Given the description of an element on the screen output the (x, y) to click on. 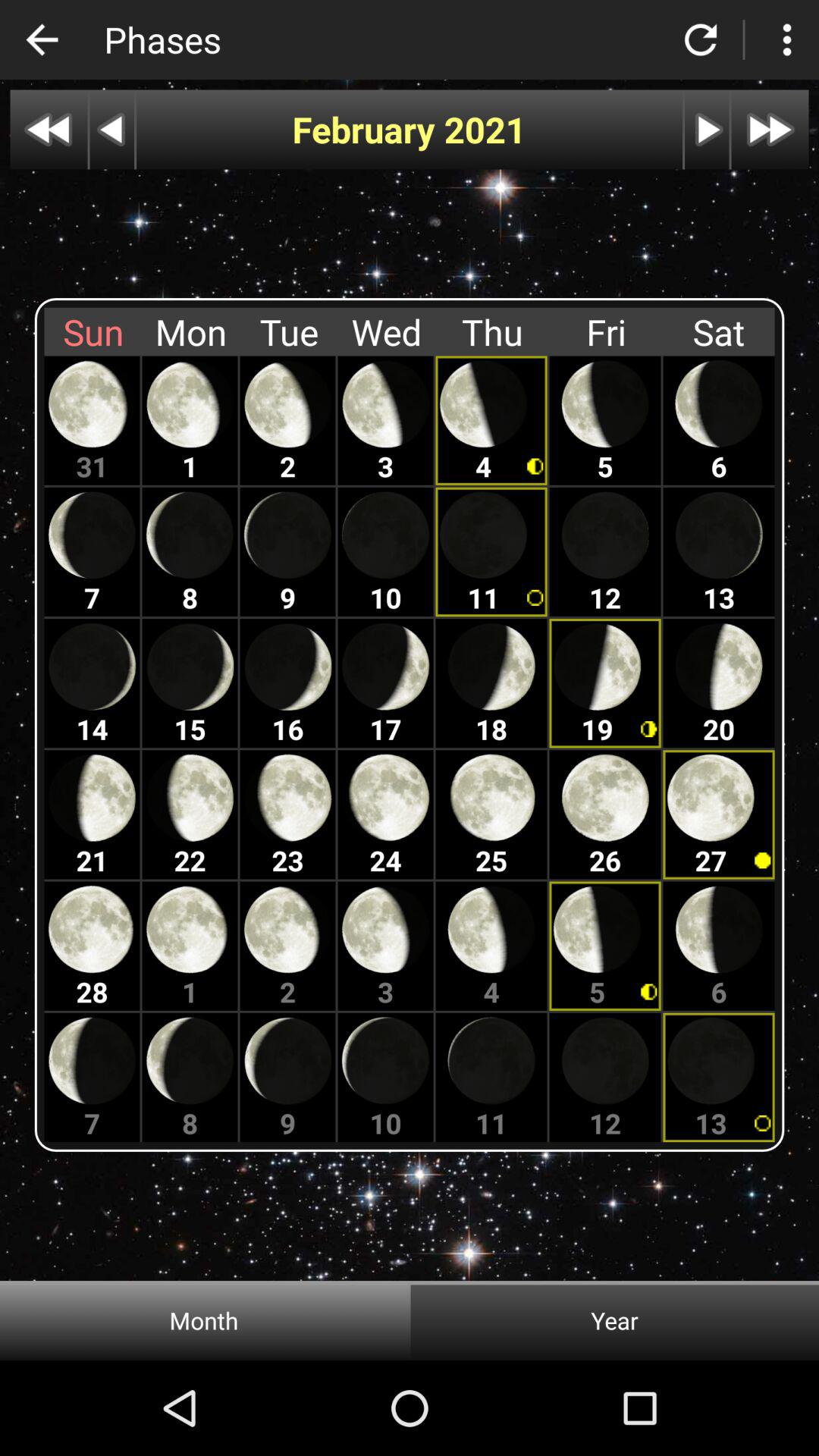
go back (111, 129)
